Given the description of an element on the screen output the (x, y) to click on. 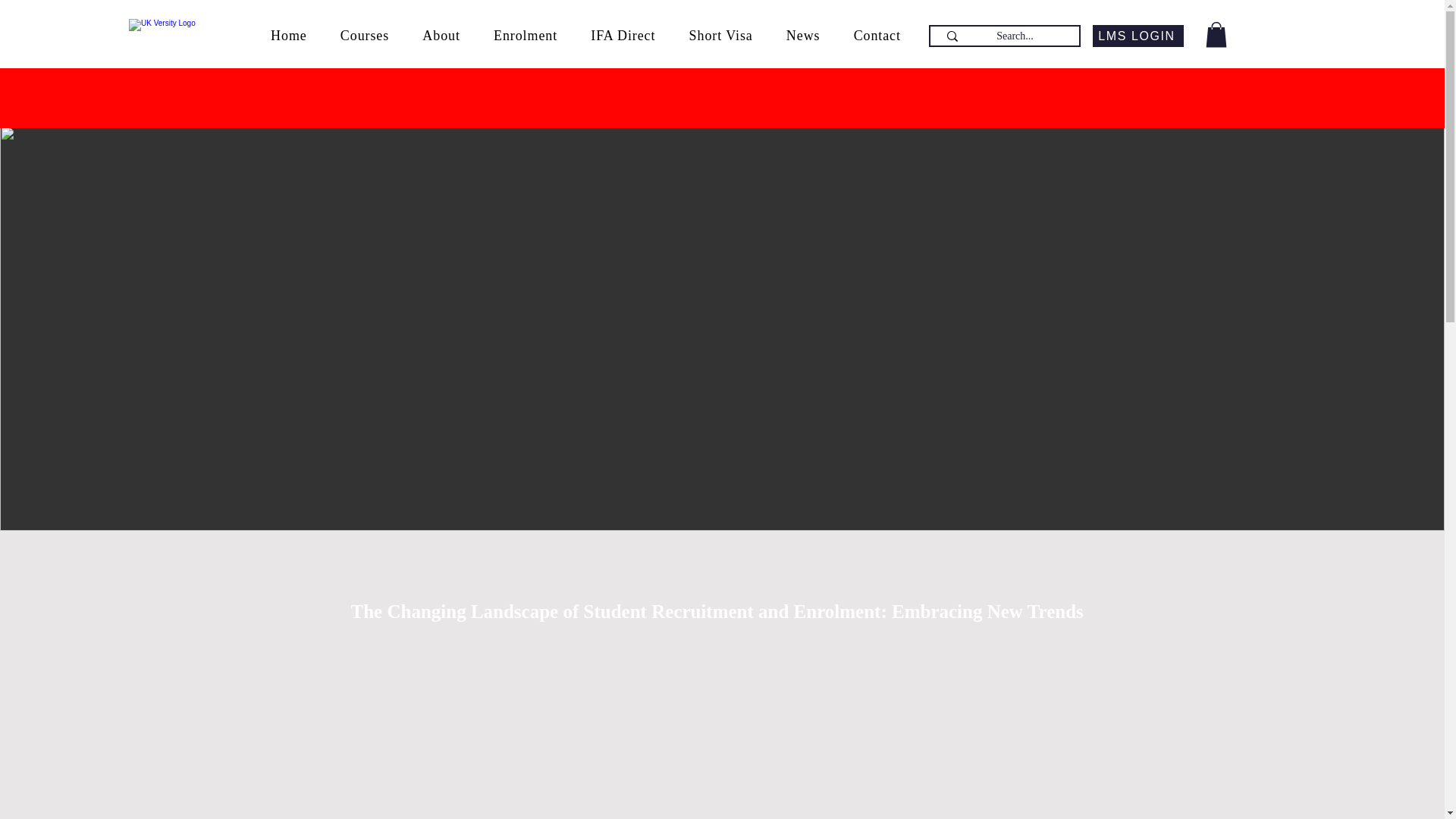
News (803, 35)
IFA Direct (622, 35)
About (441, 35)
LMS LOGIN (1138, 35)
Home (288, 35)
Courses (364, 35)
Contact (877, 35)
Enrolment (525, 35)
Short Visa (721, 35)
